Given the description of an element on the screen output the (x, y) to click on. 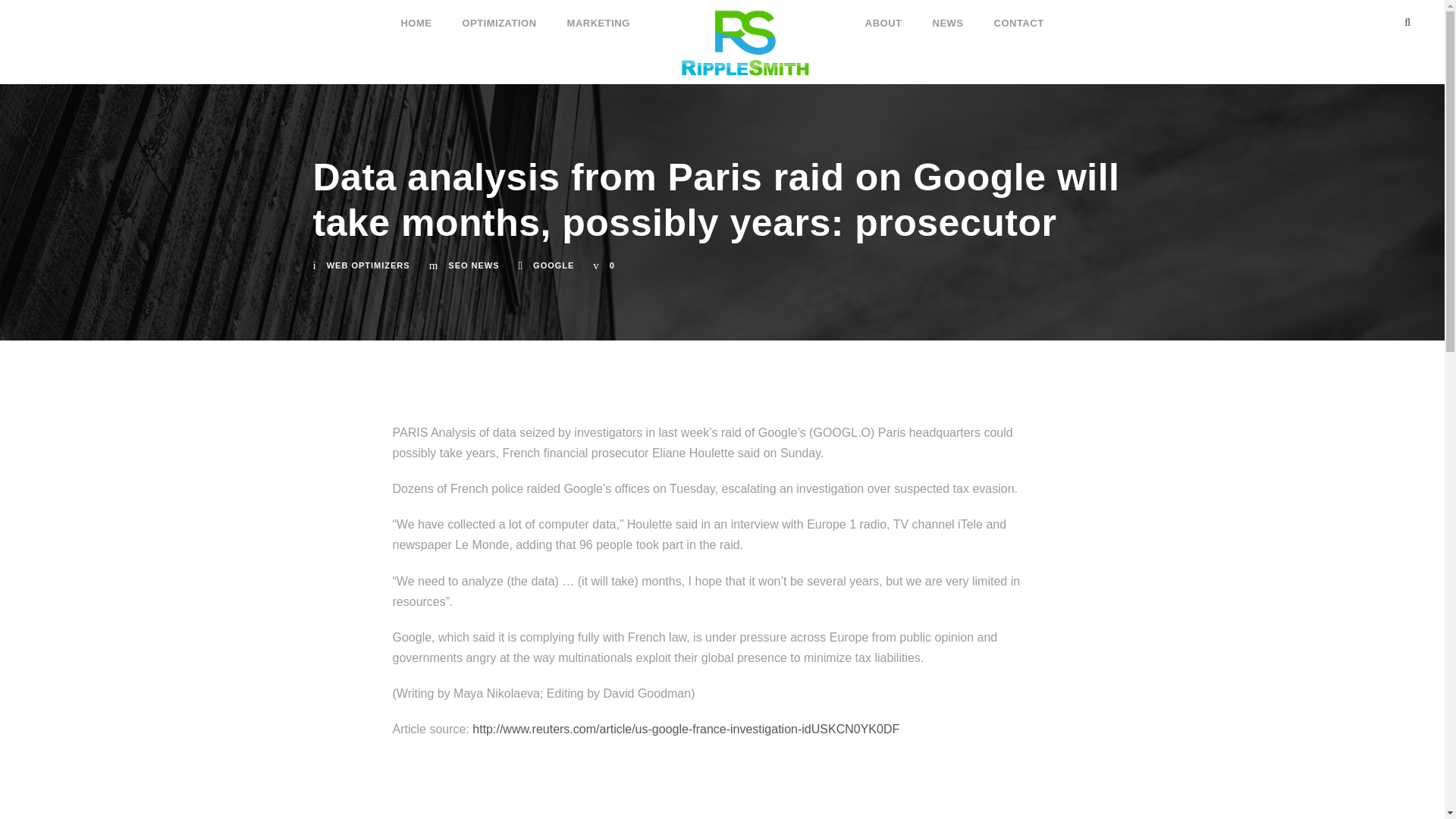
CONTACT (1018, 15)
ABOUT (883, 15)
Posts by Web Optimizers (368, 265)
SEO NEWS (473, 265)
NEWS (948, 15)
GOOGLE (552, 265)
HOME (415, 15)
MARKETING (598, 15)
WEB OPTIMIZERS (368, 265)
OPTIMIZATION (498, 15)
RippleSmith Services (747, 42)
